Given the description of an element on the screen output the (x, y) to click on. 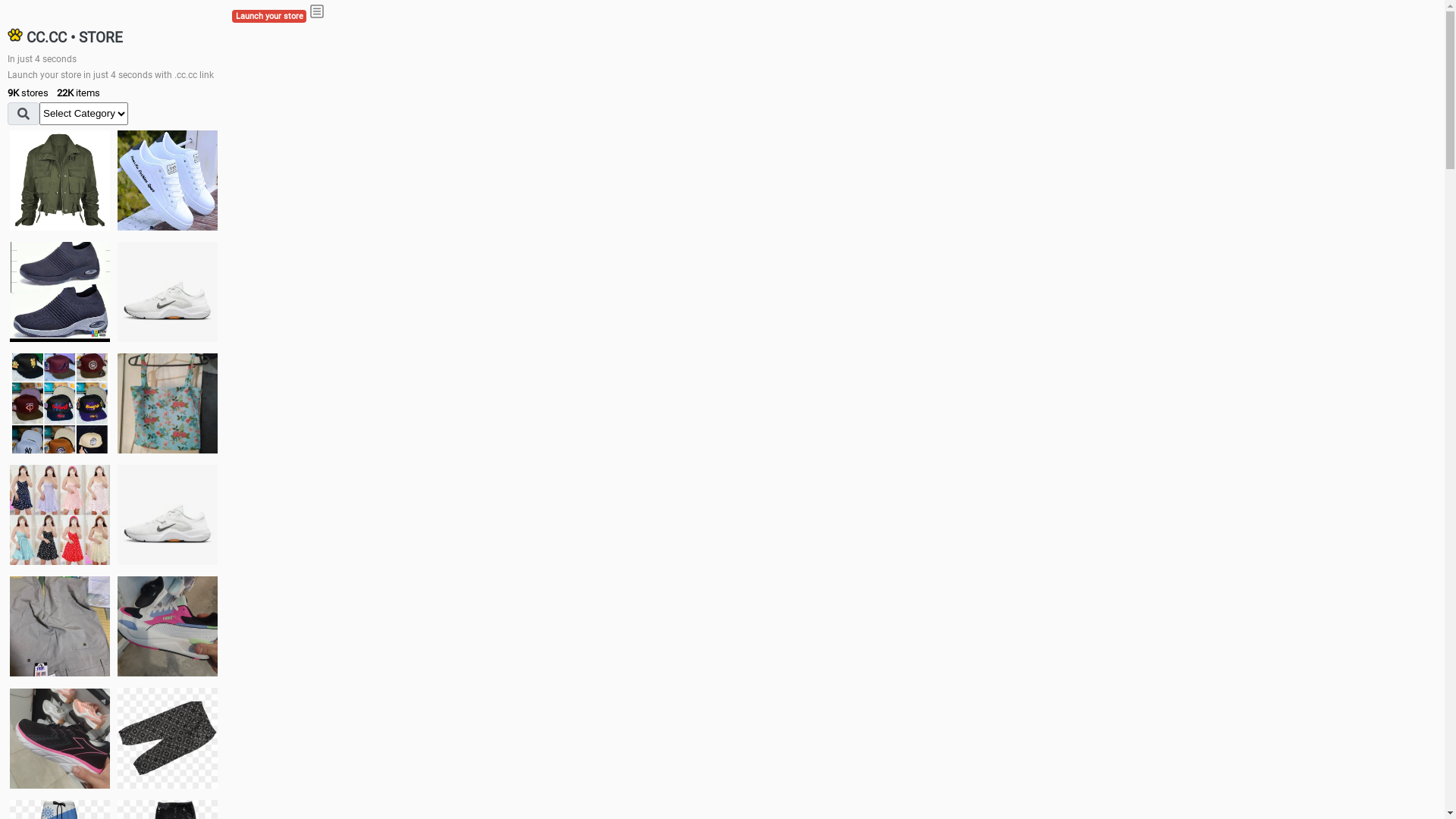
Shoes Element type: hover (167, 514)
Zapatillas pumas Element type: hover (167, 626)
Short pant Element type: hover (167, 737)
Shoes for boys Element type: hover (167, 291)
jacket Element type: hover (59, 180)
white shoes Element type: hover (167, 180)
Ukay cloth Element type: hover (167, 403)
Launch your store Element type: text (269, 15)
shoes for boys Element type: hover (59, 291)
Zapatillas Element type: hover (59, 738)
Things we need Element type: hover (59, 403)
Dress/square nect top Element type: hover (59, 514)
